Given the description of an element on the screen output the (x, y) to click on. 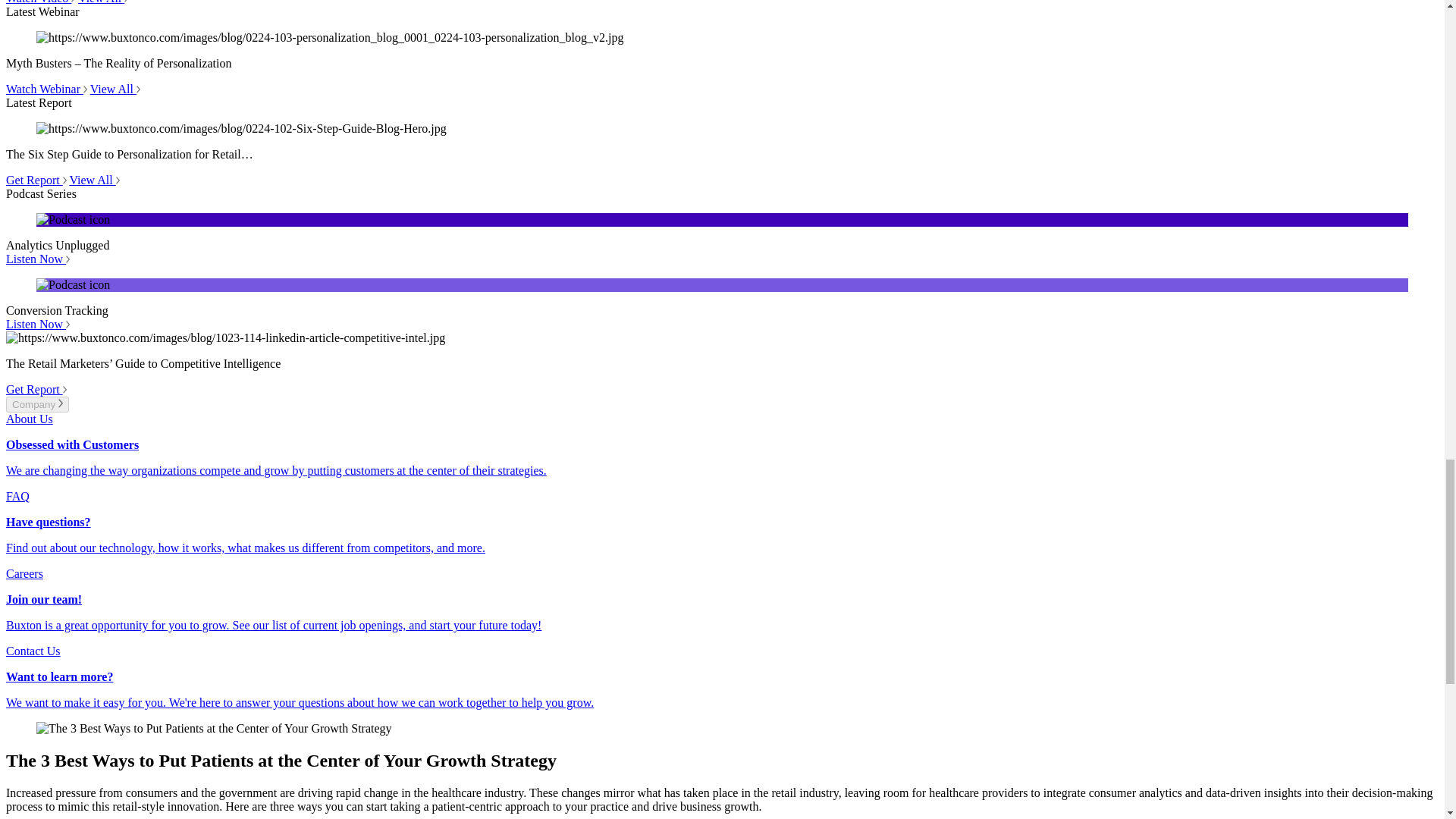
View All (93, 179)
Get Report (35, 179)
View All (114, 88)
Watch Video (40, 2)
Watch Webinar (46, 88)
View All (103, 2)
